Given the description of an element on the screen output the (x, y) to click on. 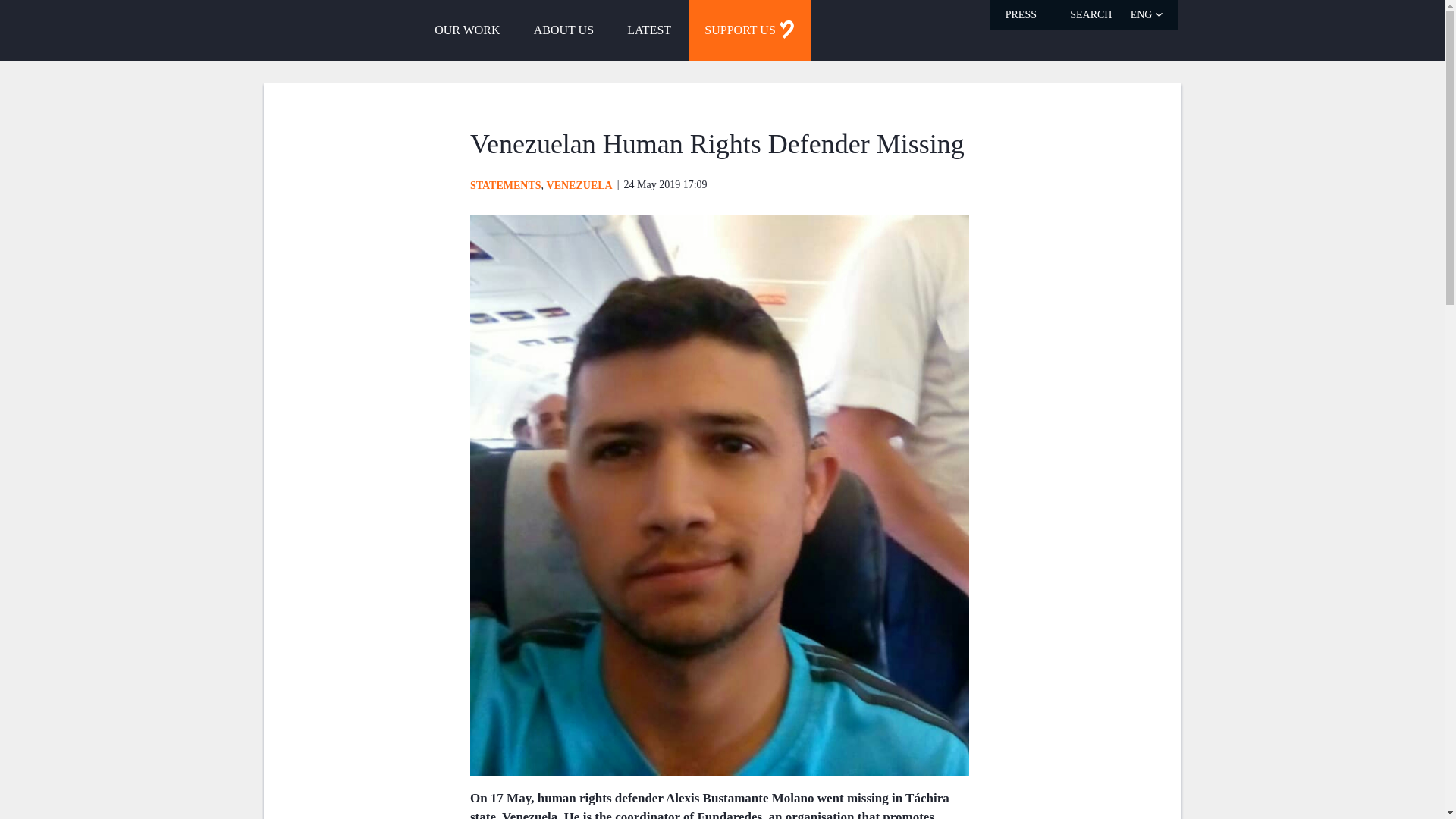
LATEST (648, 30)
Civil Rights Defenders (309, 29)
ABOUT US (563, 30)
OUR WORK (467, 30)
